Given the description of an element on the screen output the (x, y) to click on. 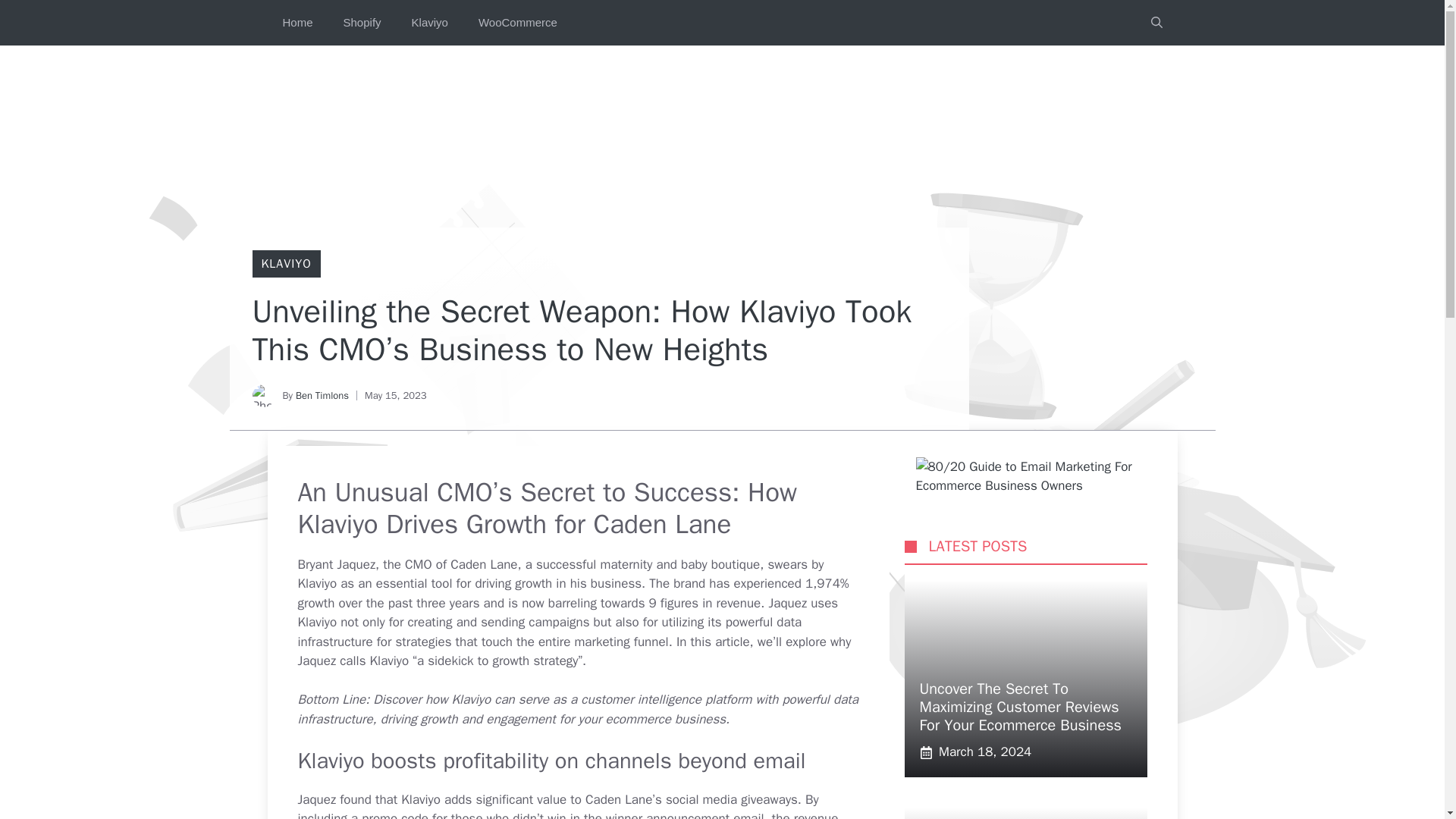
Klaviyo (429, 22)
Ben Timlons (322, 395)
Shopify (362, 22)
WooCommerce (517, 22)
email-marketing-for-ecommerce-business-owners-book-cover (1040, 476)
KLAVIYO (285, 263)
Home (296, 22)
